Given the description of an element on the screen output the (x, y) to click on. 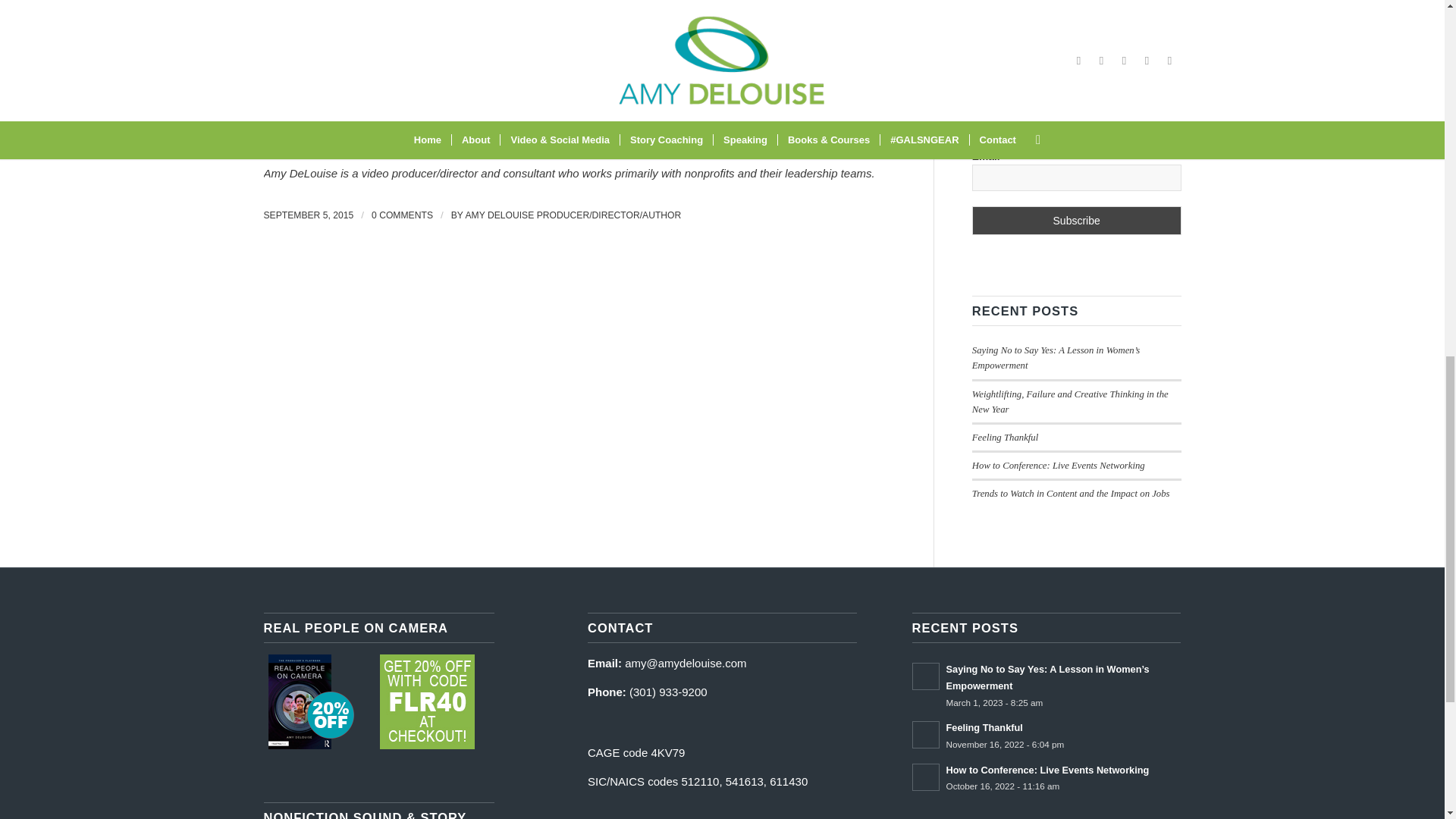
Subscribe (1076, 220)
Trends to Watch in Content and the Impact on Jobs (1071, 493)
REAL PEOPLE ON CAMERA (310, 701)
How to Conference: Live Events Networking (1058, 465)
Feeling Thankful (1005, 437)
Subscribe (1076, 220)
REAL PEOPLE ON CAMERA (427, 701)
0 COMMENTS (401, 214)
Weightlifting, Failure and Creative Thinking in the New Year (1070, 401)
